Given the description of an element on the screen output the (x, y) to click on. 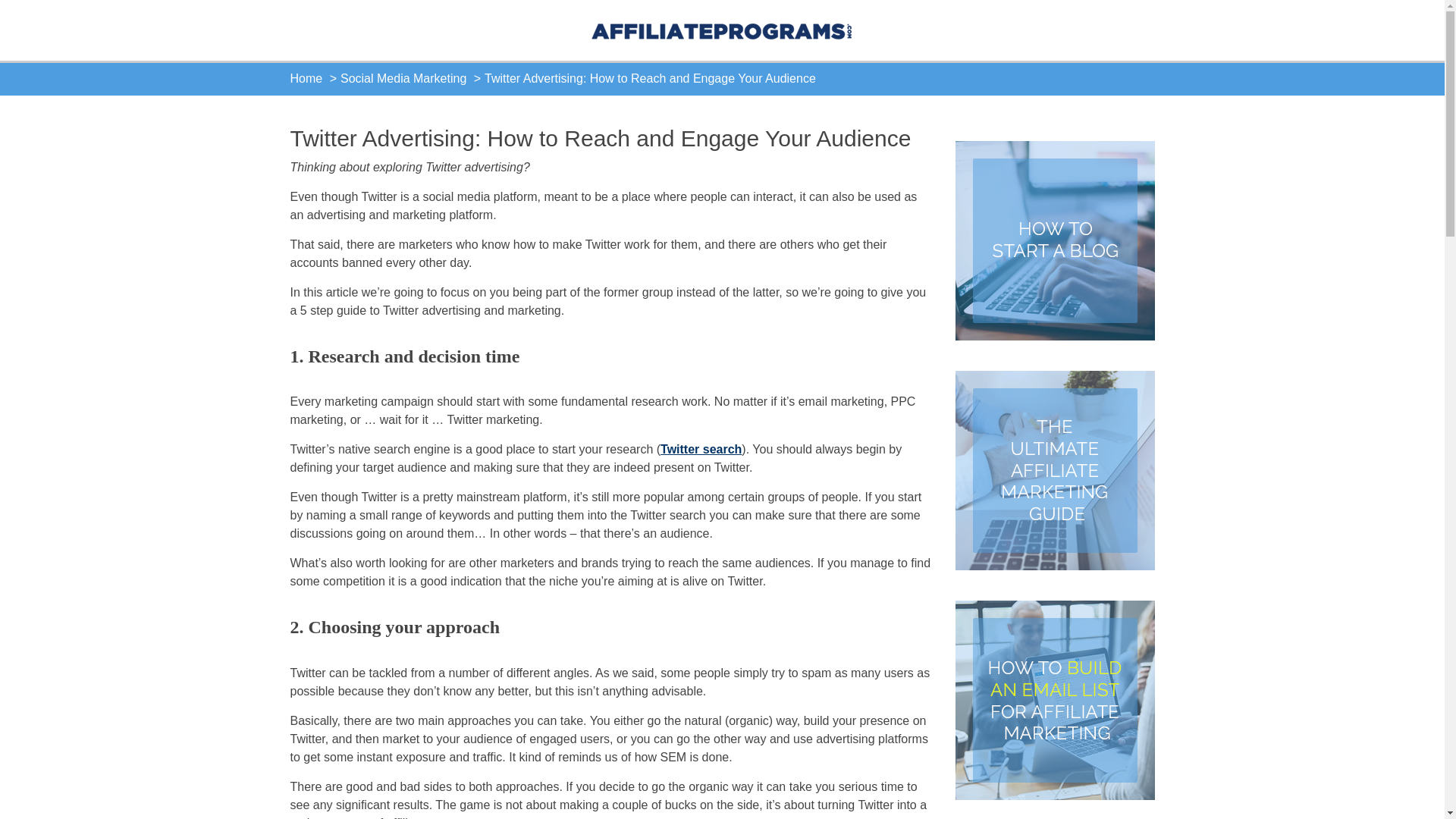
Twitter search (701, 449)
Home (305, 78)
Social Media Marketing (402, 78)
